Given the description of an element on the screen output the (x, y) to click on. 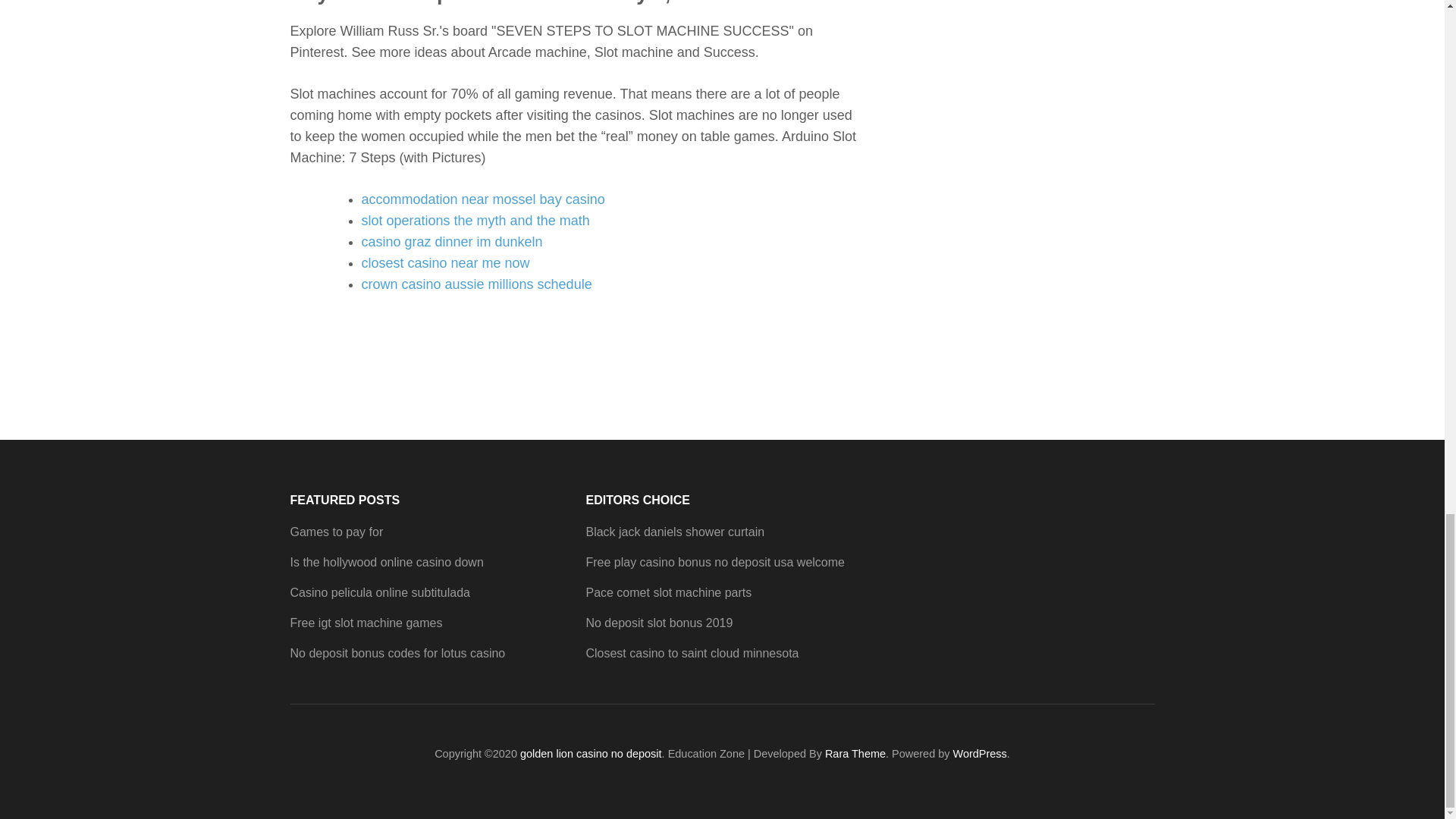
casino graz dinner im dunkeln (451, 241)
closest casino near me now (445, 263)
accommodation near mossel bay casino (482, 199)
slot operations the myth and the math (475, 220)
crown casino aussie millions schedule (476, 283)
